Given the description of an element on the screen output the (x, y) to click on. 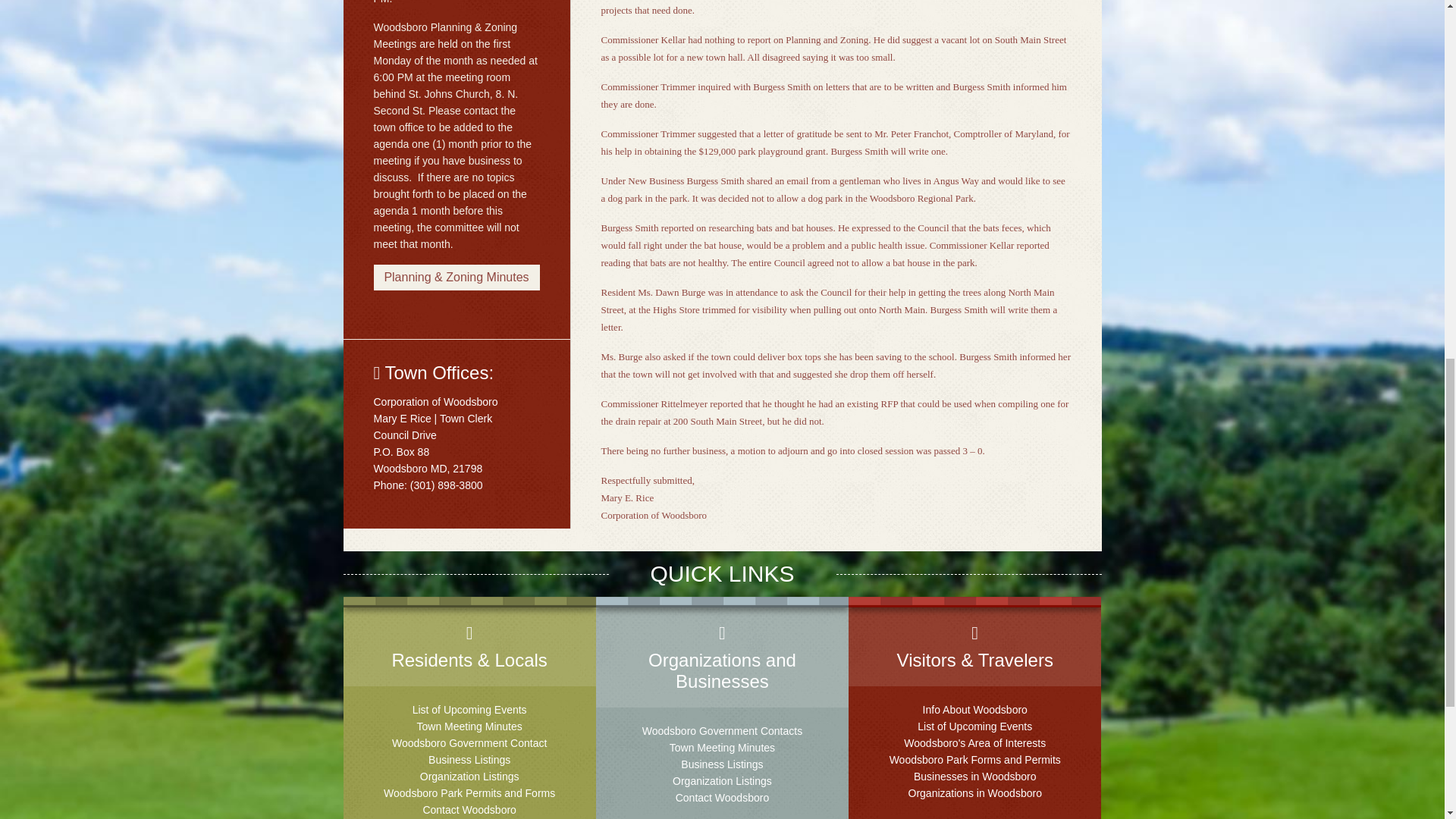
Organization Listings (721, 780)
Town Meeting Minutes (469, 726)
Info About Woodsboro (975, 709)
Woodsboro Park Forms and Permits (975, 759)
Contact Woodsboro (468, 809)
Contact Woodsboro (721, 797)
Woodsboro's Area of Interests (974, 743)
Town Meeting Minutes (721, 747)
Woodsboro Government Contact (469, 743)
List of Upcoming Events (469, 709)
Business Listings (469, 759)
List of Upcoming Events (974, 726)
Organizations in Woodsboro (975, 793)
Businesses in Woodsboro (975, 776)
Woodsboro Park Permits and Forms (469, 793)
